Given the description of an element on the screen output the (x, y) to click on. 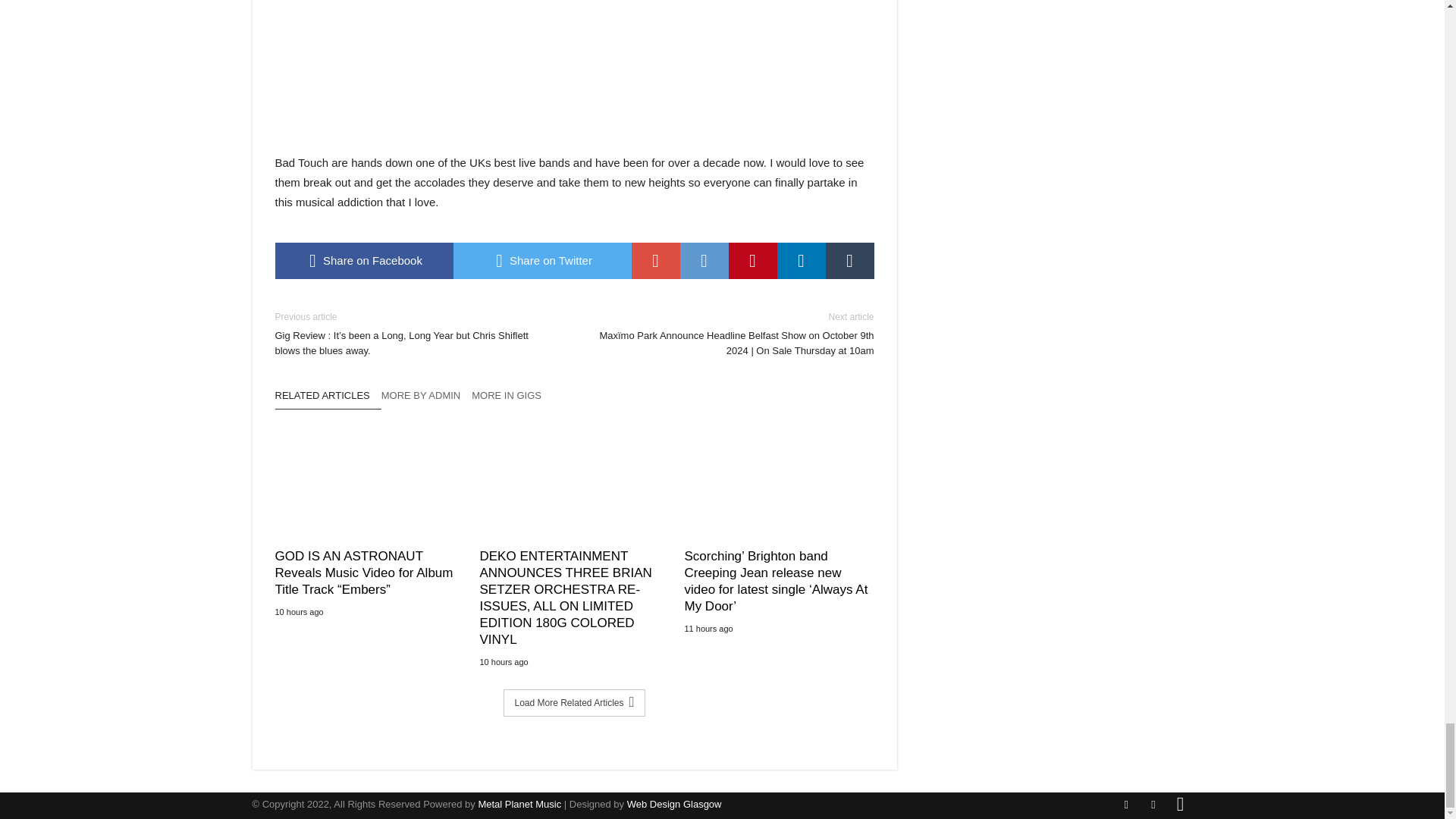
facebook (363, 260)
